Given the description of an element on the screen output the (x, y) to click on. 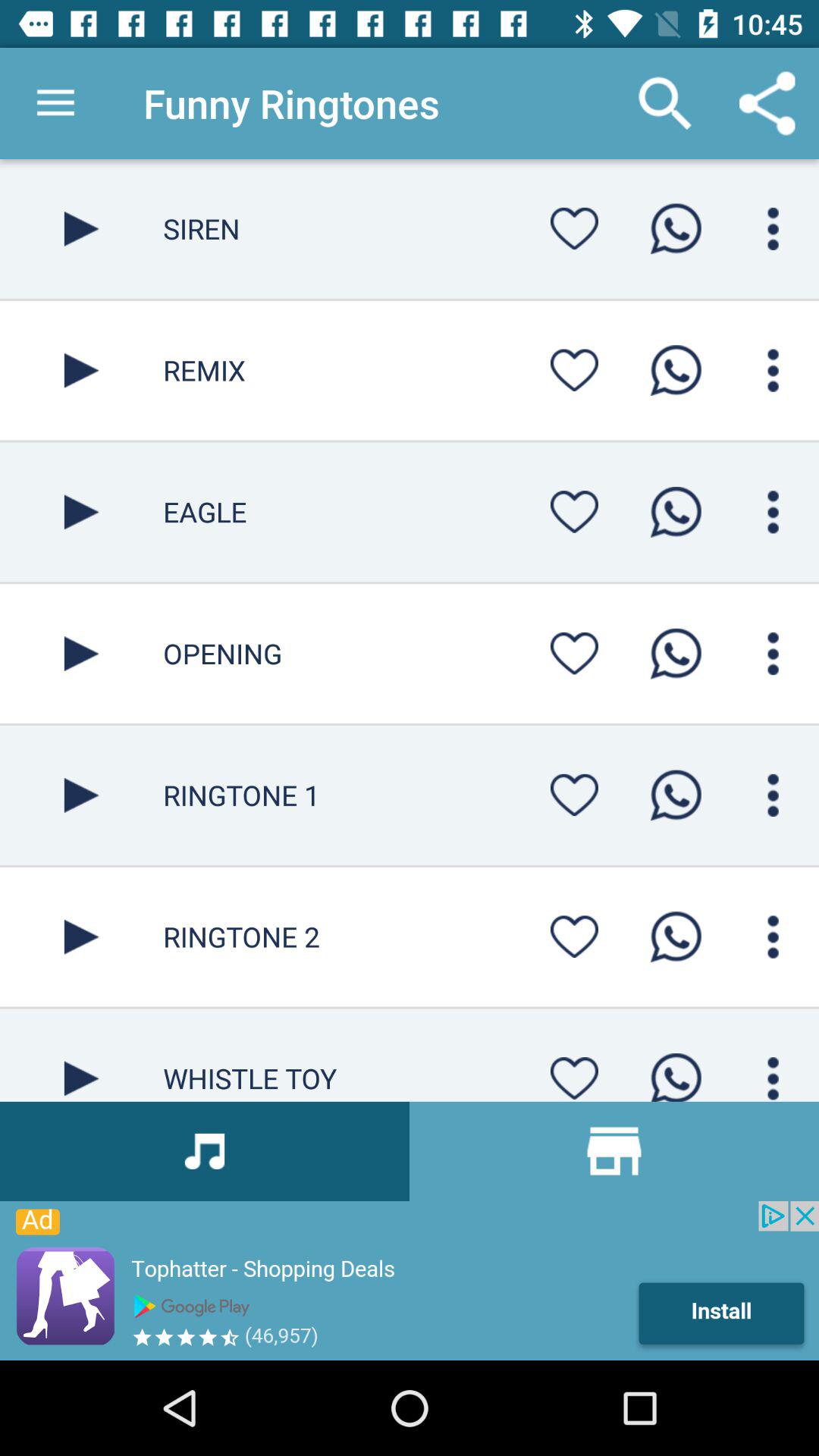
to play that particular item (81, 795)
